Given the description of an element on the screen output the (x, y) to click on. 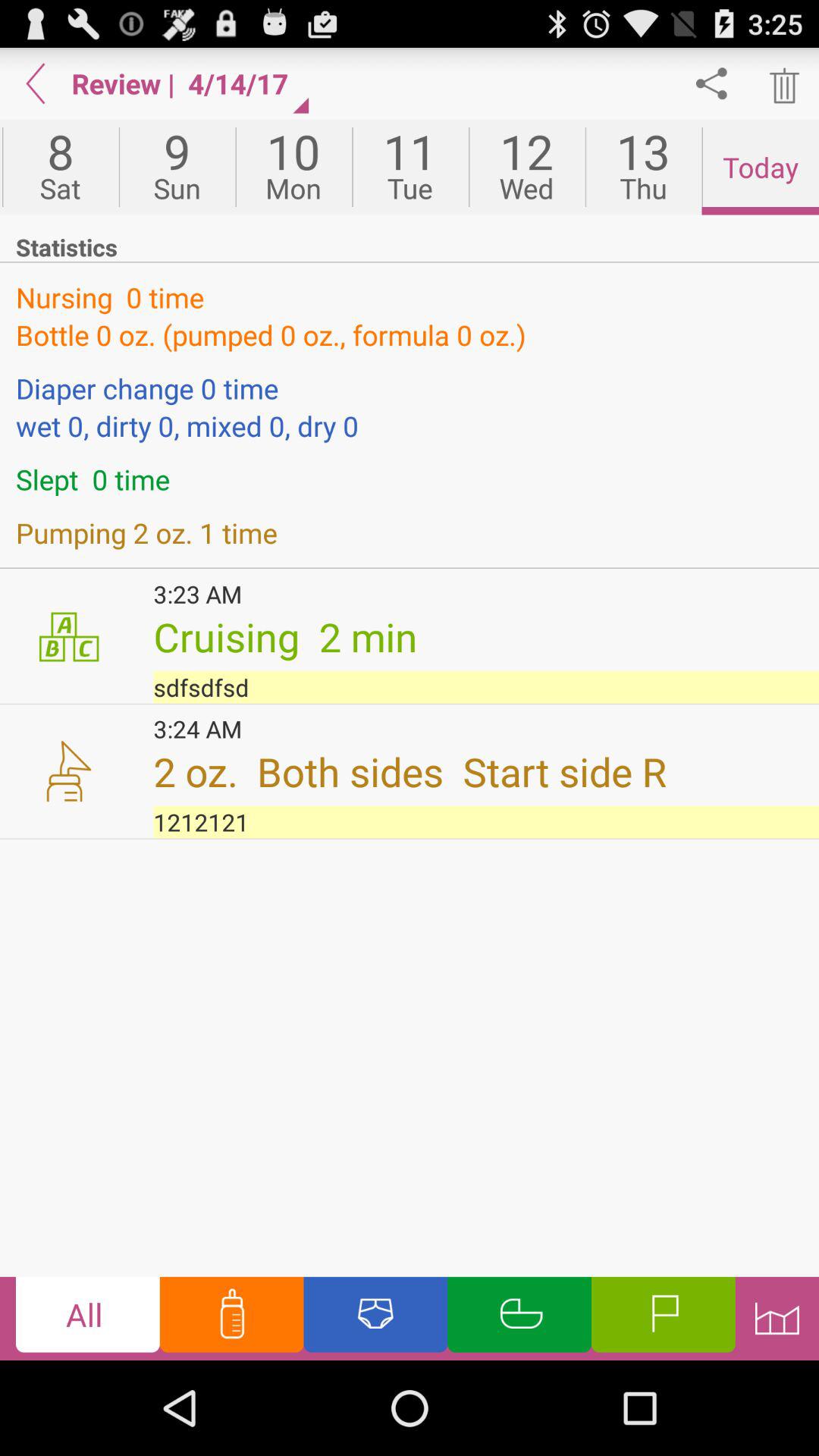
add feeding (231, 1318)
